Given the description of an element on the screen output the (x, y) to click on. 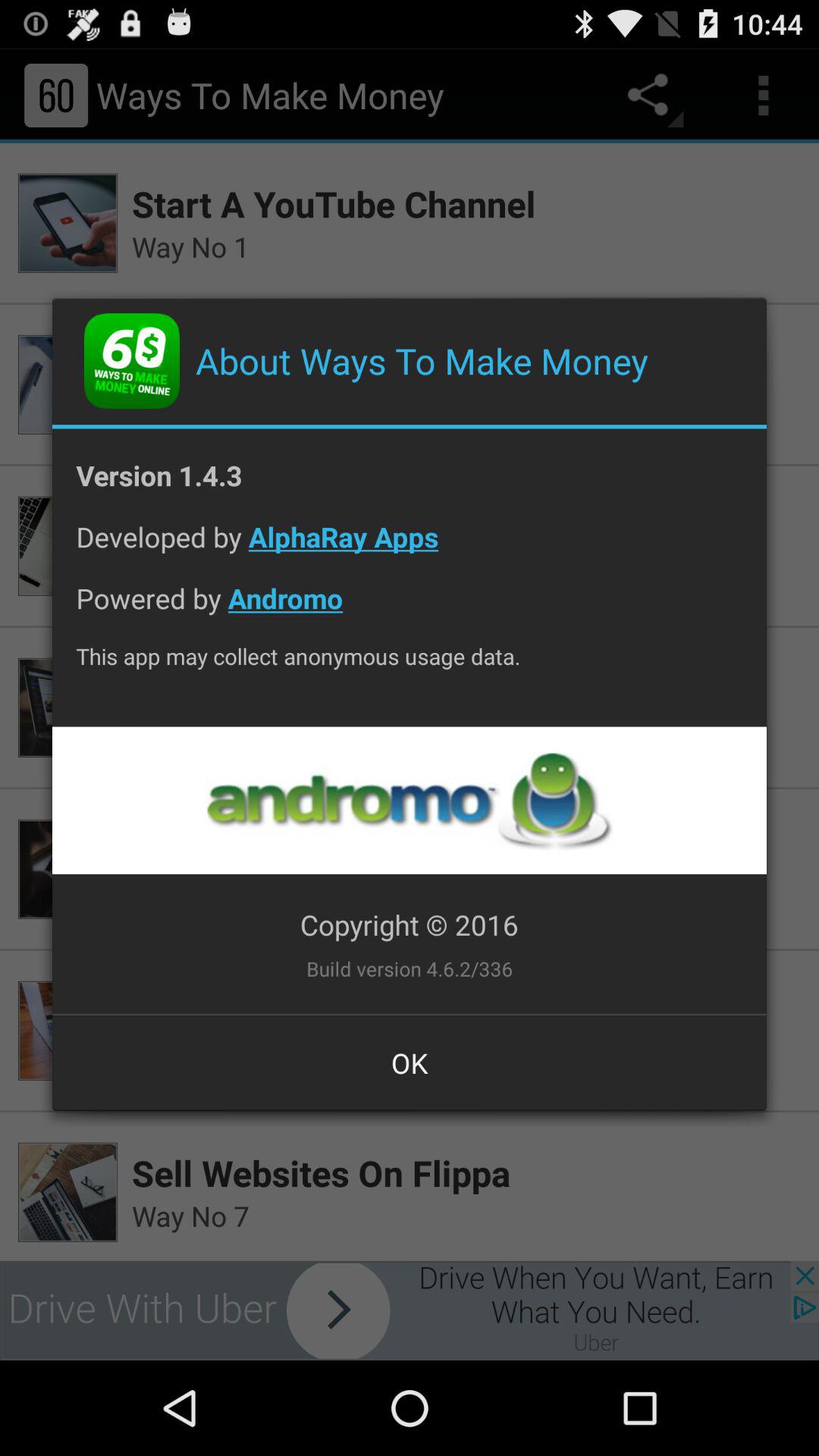
visit creators website (408, 800)
